Given the description of an element on the screen output the (x, y) to click on. 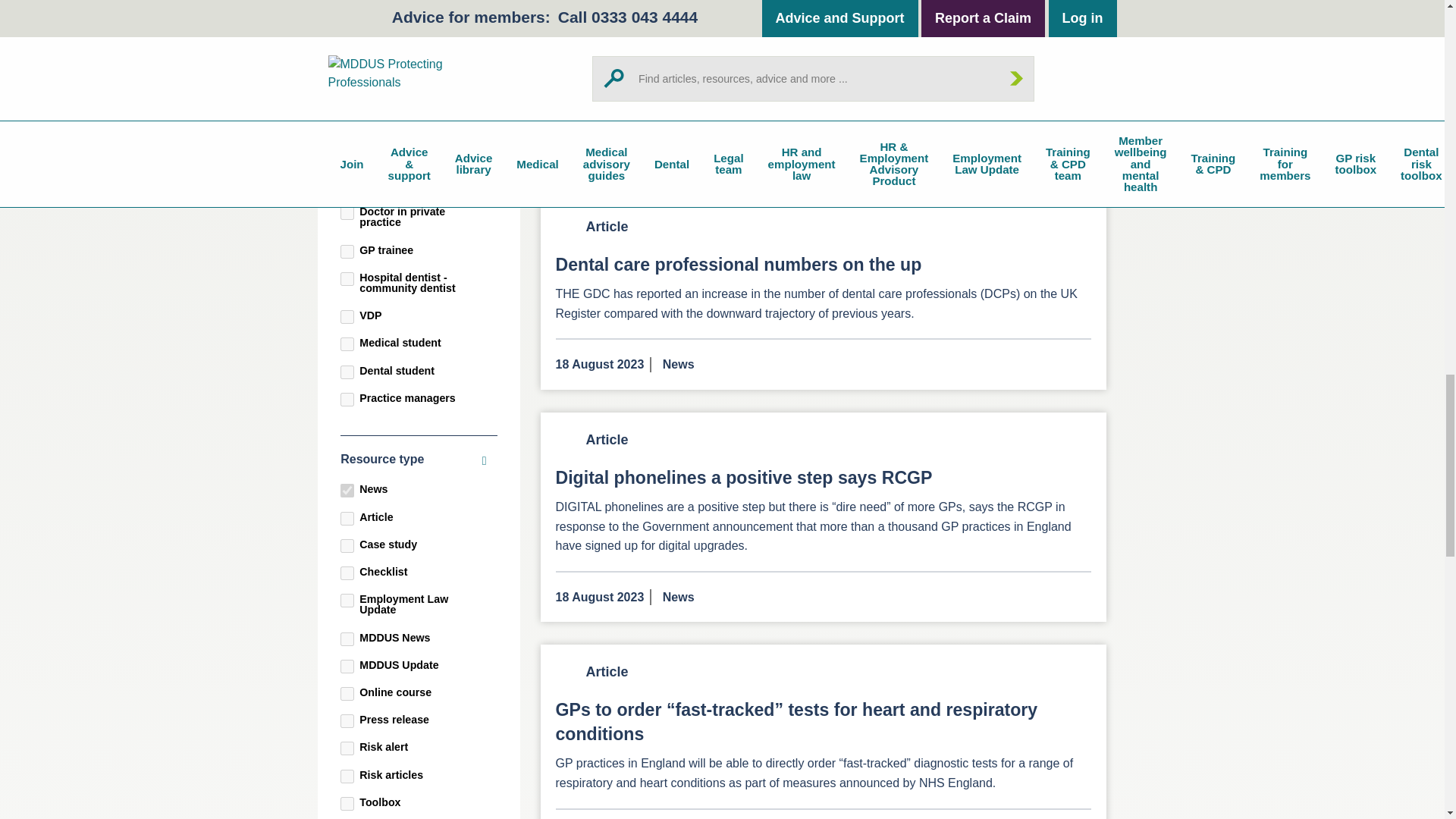
4142D0231CD44156B1CBF93A0258D2DA (346, 721)
1500CD2CD5F247B590CE6C18C0D41049 (346, 639)
D5102E6A3E0B4CB7AC902972A49C9316 (346, 344)
8378507375CB48FDA2914E50C6C17A95 (346, 518)
A949A3D45CC5473295C9FF5B1FC0C85E (346, 278)
D01C70F7D62848C4BE4DF59397A943B6 (346, 666)
11D6C4834DB64E1A94917DC9379BD99D (346, 213)
1E291F36B3A7428395A5298138048415 (346, 748)
A7BDD3DE32CE493A8011A3289C5BDD86 (346, 490)
DA4BB0CF88EA4CB8A614E40CDFD952F2 (346, 545)
4AE39EB130DE4F7C9E15996F7117F9DD (346, 372)
D50B0345EF2742F19FC8EB196591FCD3 (346, 803)
284D21E0671047599755DC0B2496CA7D (346, 38)
F1DA1F3A55E046419E53C61D34BC3617 (346, 316)
0C9B9F26FFF74FC79011529B6FF1BCC2 (346, 9)
